Given the description of an element on the screen output the (x, y) to click on. 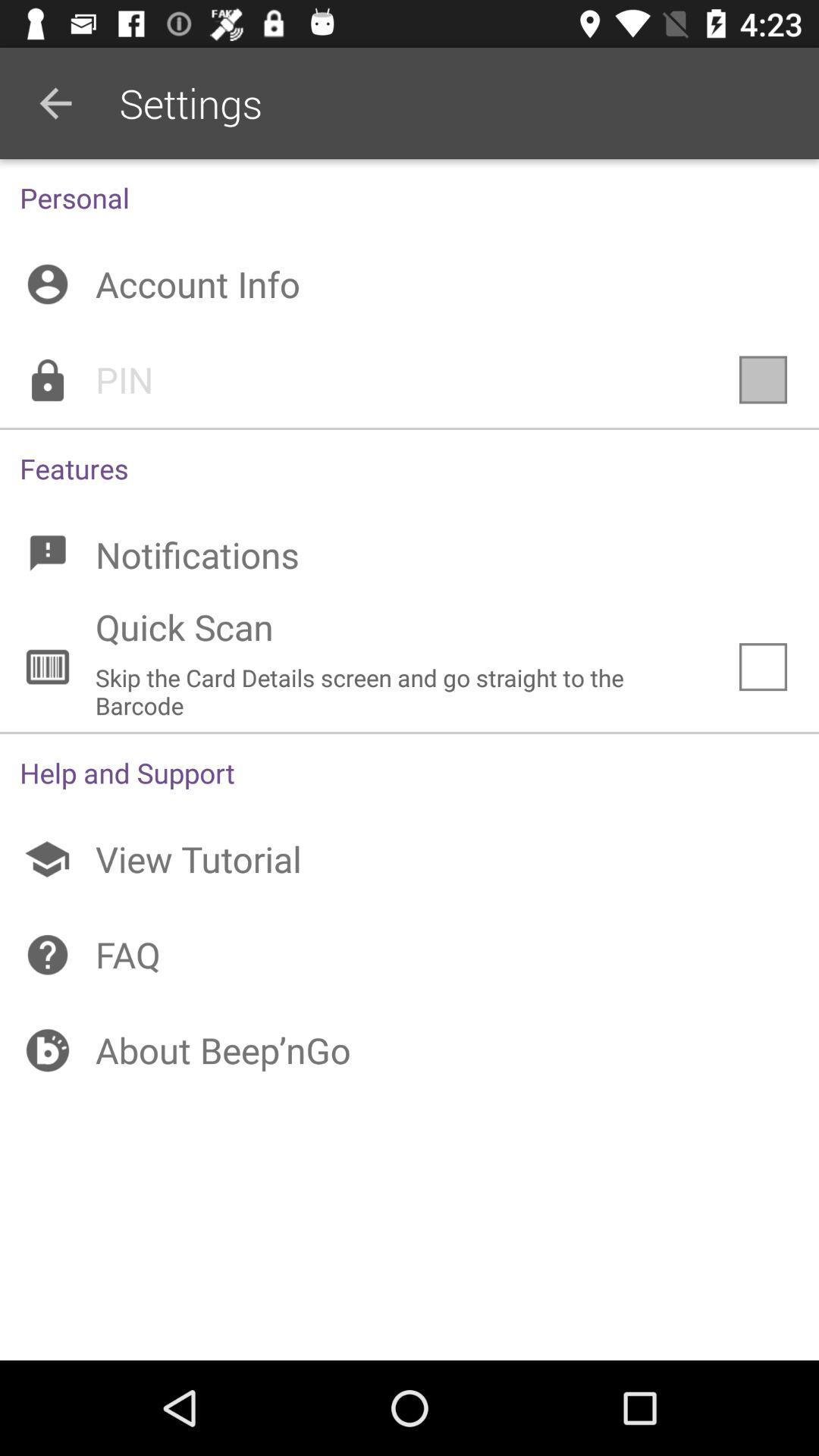
open the item next to the settings app (55, 103)
